Given the description of an element on the screen output the (x, y) to click on. 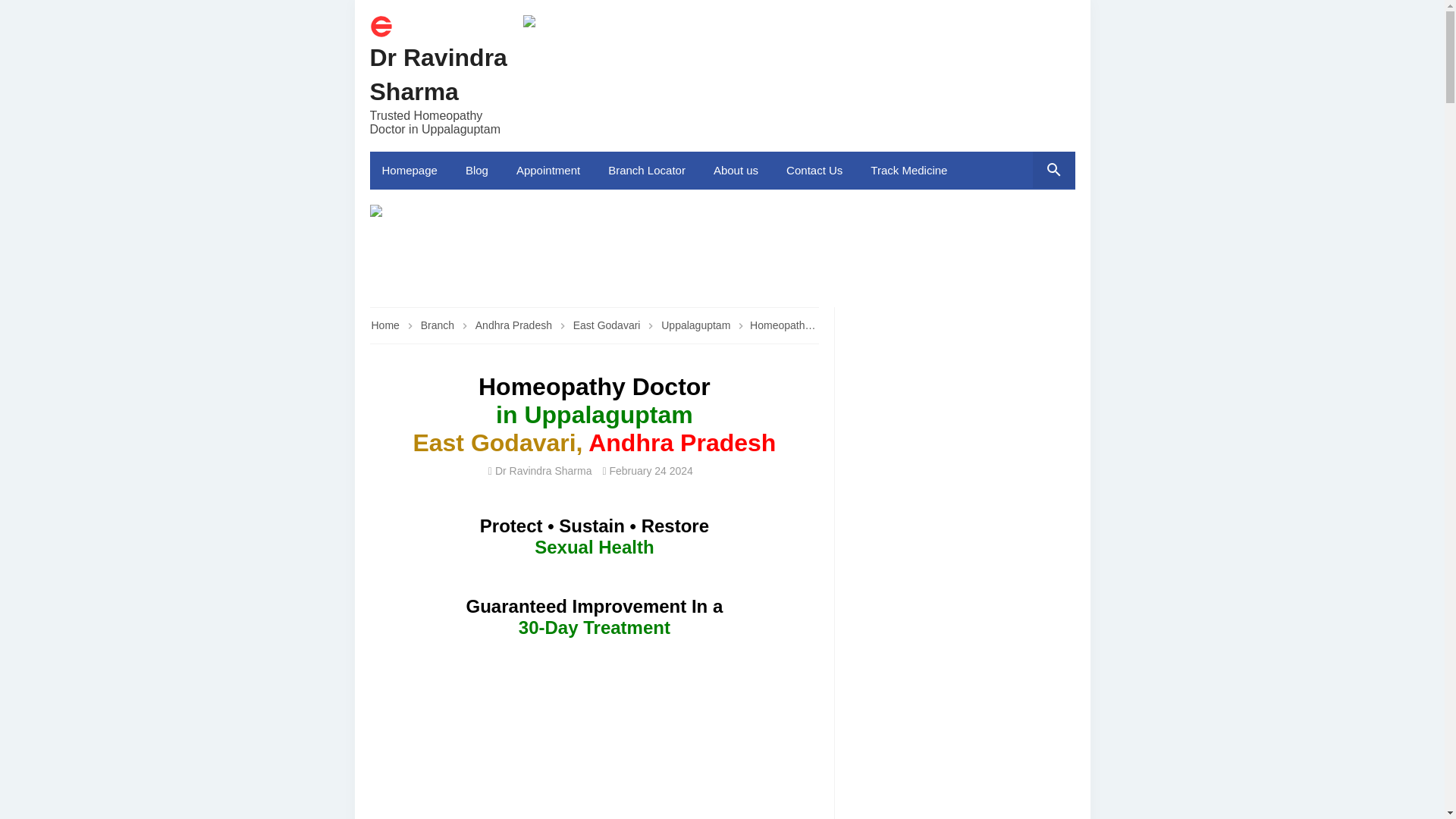
Andhra Pradesh (515, 325)
Andhra Pradesh (515, 325)
Homepage (410, 170)
Dr Ravindra Sharma (437, 74)
February 24 2024 (650, 470)
East Godavari (608, 325)
Home (381, 33)
Dr Ravindra Sharma (437, 74)
Blog (477, 170)
Home (384, 325)
East Godavari (608, 325)
permanent link (650, 470)
Contact Us (816, 170)
About us (737, 170)
Branch (438, 325)
